Given the description of an element on the screen output the (x, y) to click on. 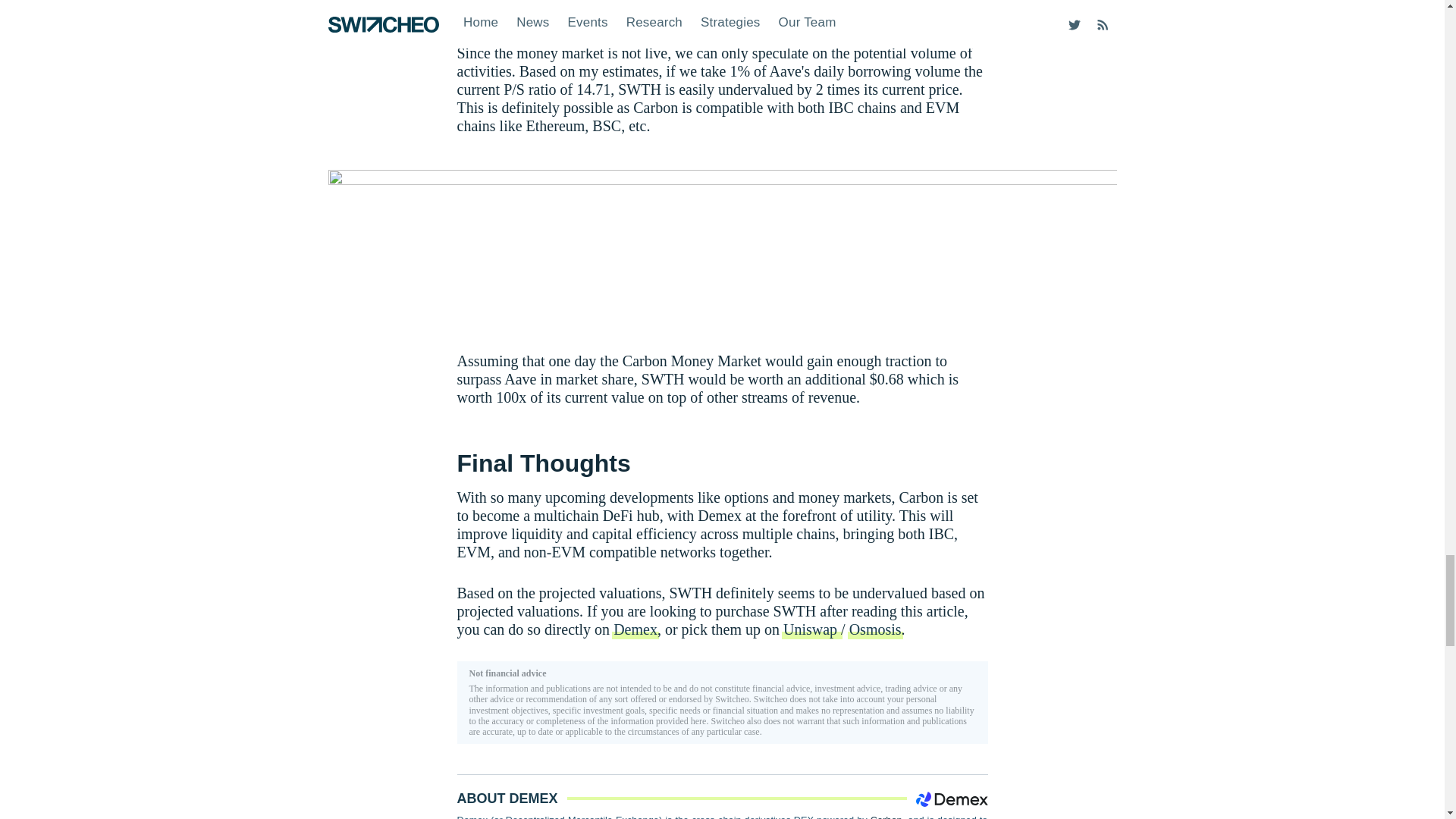
Carbon (886, 816)
Demex (635, 629)
Uniswap (812, 629)
Osmosis (874, 629)
